Given the description of an element on the screen output the (x, y) to click on. 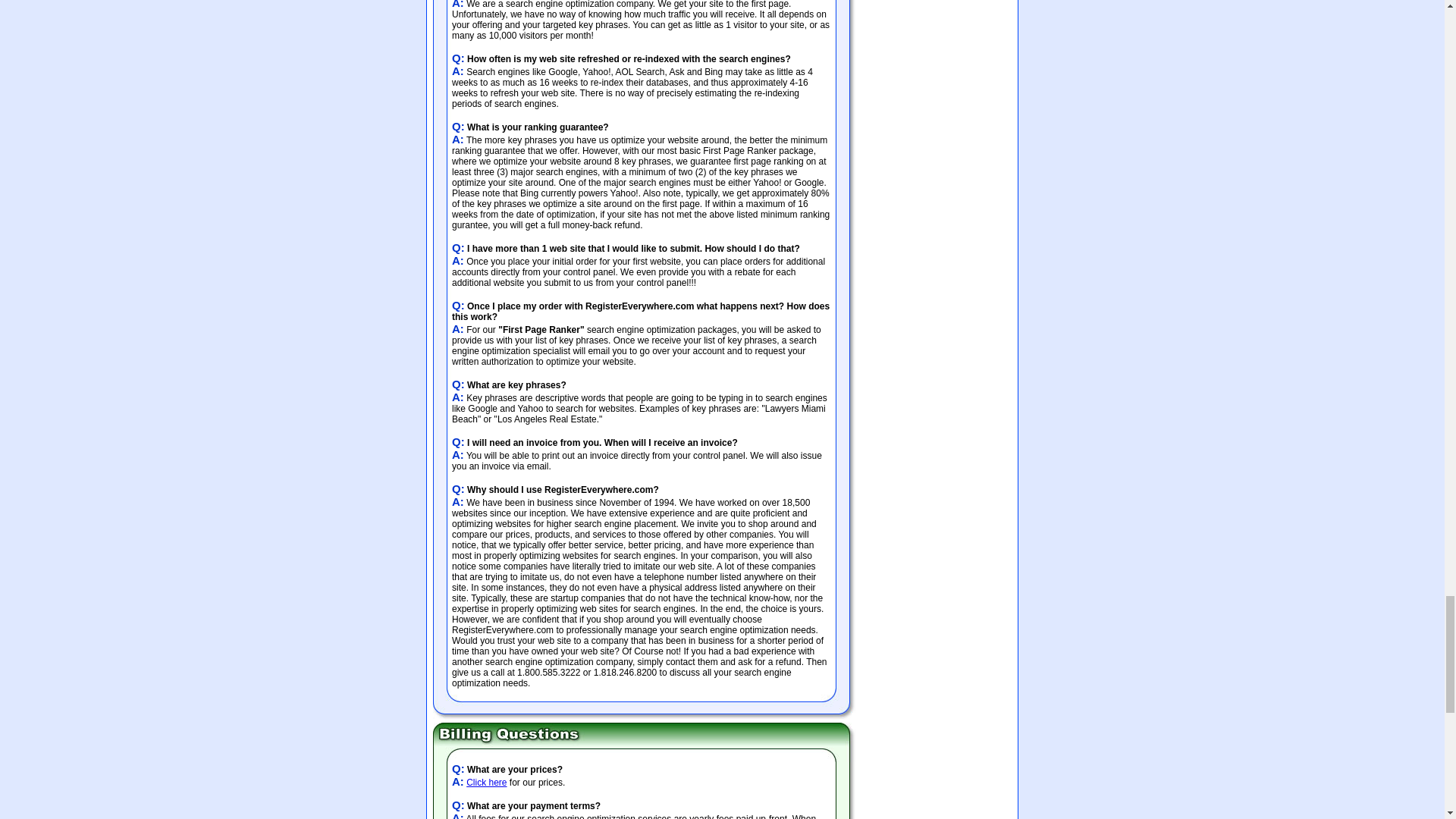
Click here (485, 782)
